Given the description of an element on the screen output the (x, y) to click on. 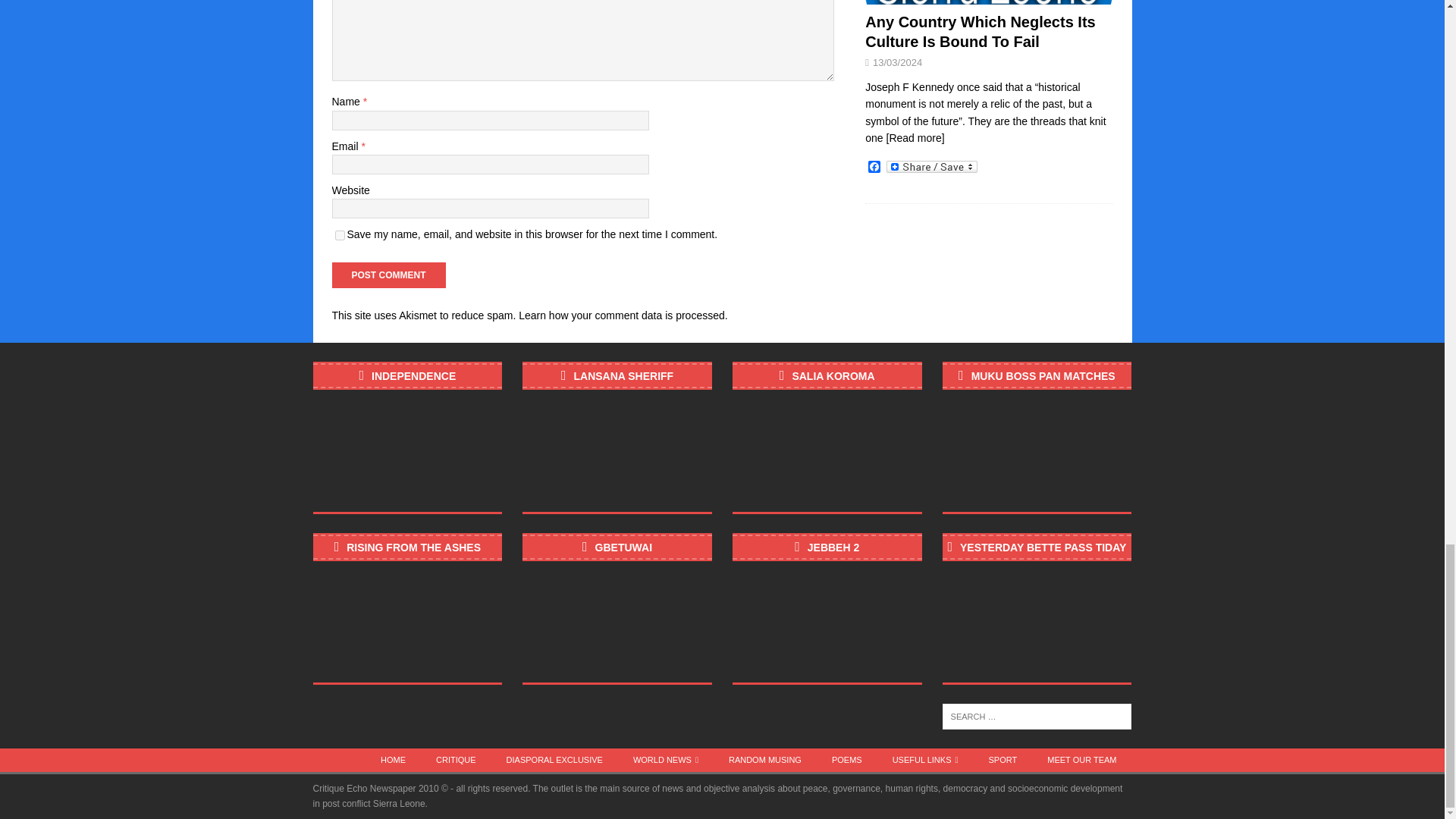
yes (339, 235)
Post Comment (388, 275)
